Given the description of an element on the screen output the (x, y) to click on. 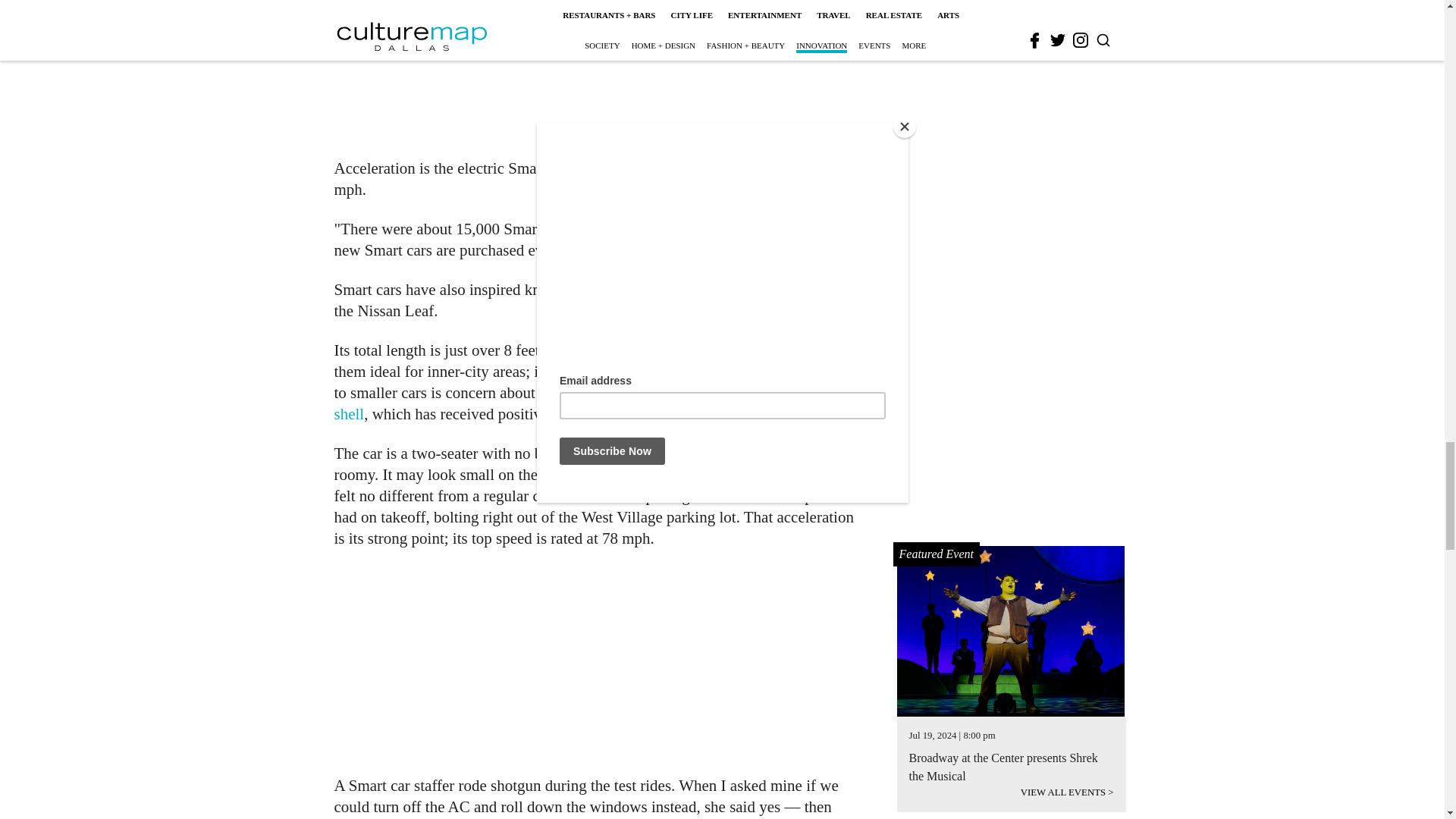
3rd party ad content (600, 69)
3rd party ad content (600, 661)
